Given the description of an element on the screen output the (x, y) to click on. 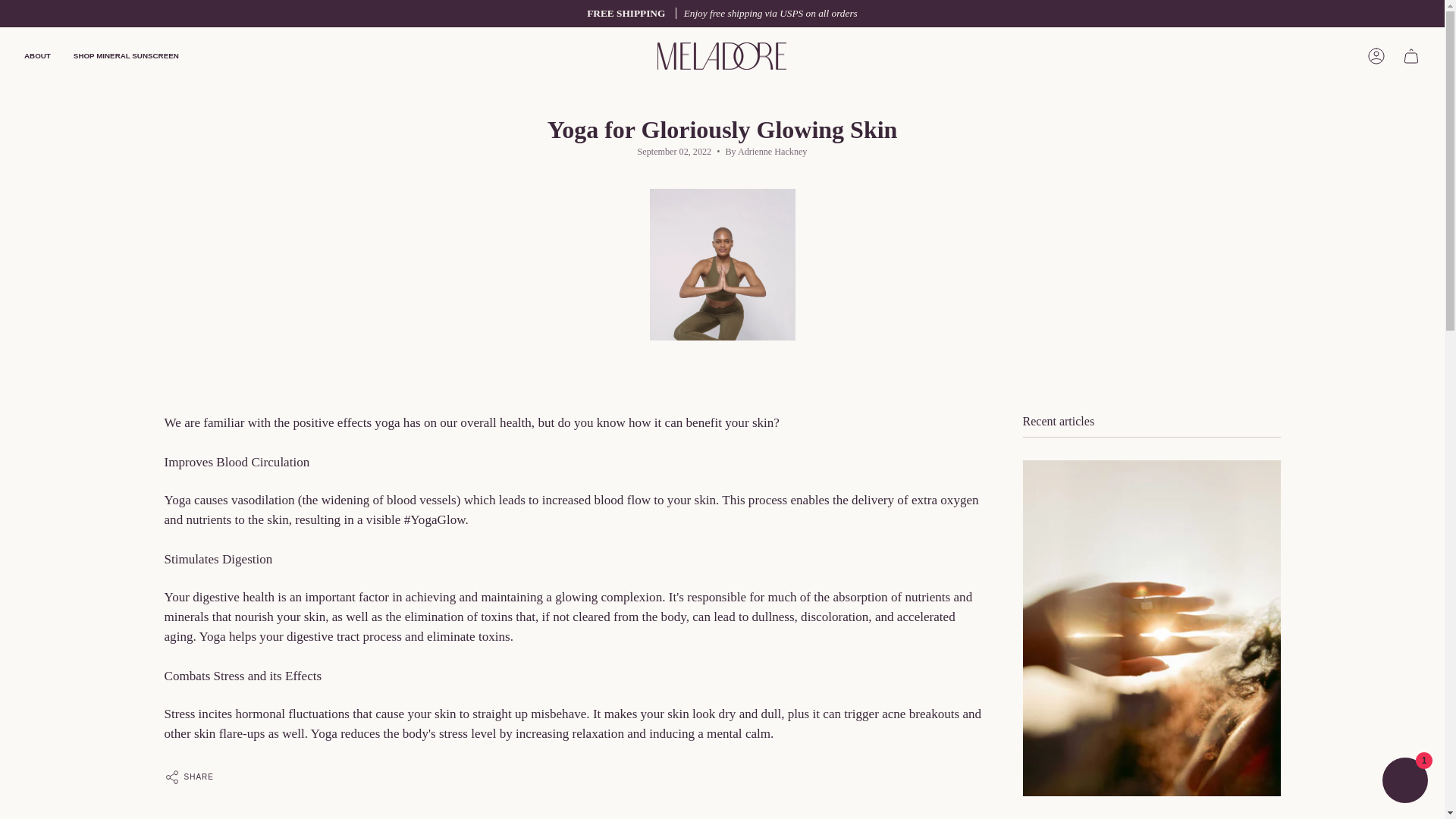
Shopify online store chat (1404, 781)
My Account (1375, 55)
SHARE (187, 777)
Cart (1410, 55)
ABOUT (37, 55)
SHOP MINERAL SUNSCREEN (126, 55)
CART (1410, 55)
ACCOUNT (1375, 55)
